Given the description of an element on the screen output the (x, y) to click on. 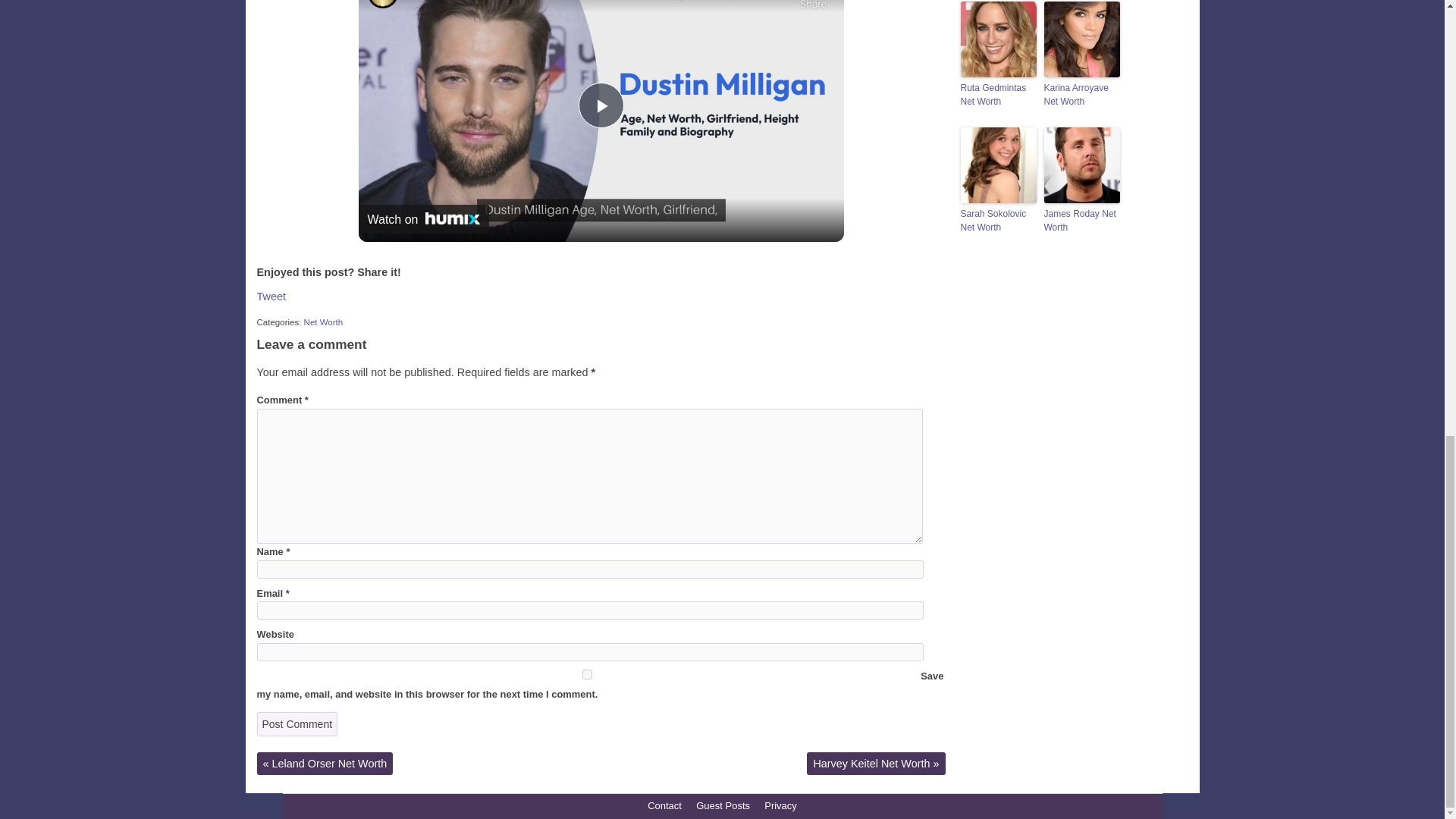
Play Video (600, 104)
yes (586, 674)
Post Comment (296, 723)
share (813, 6)
